Given the description of an element on the screen output the (x, y) to click on. 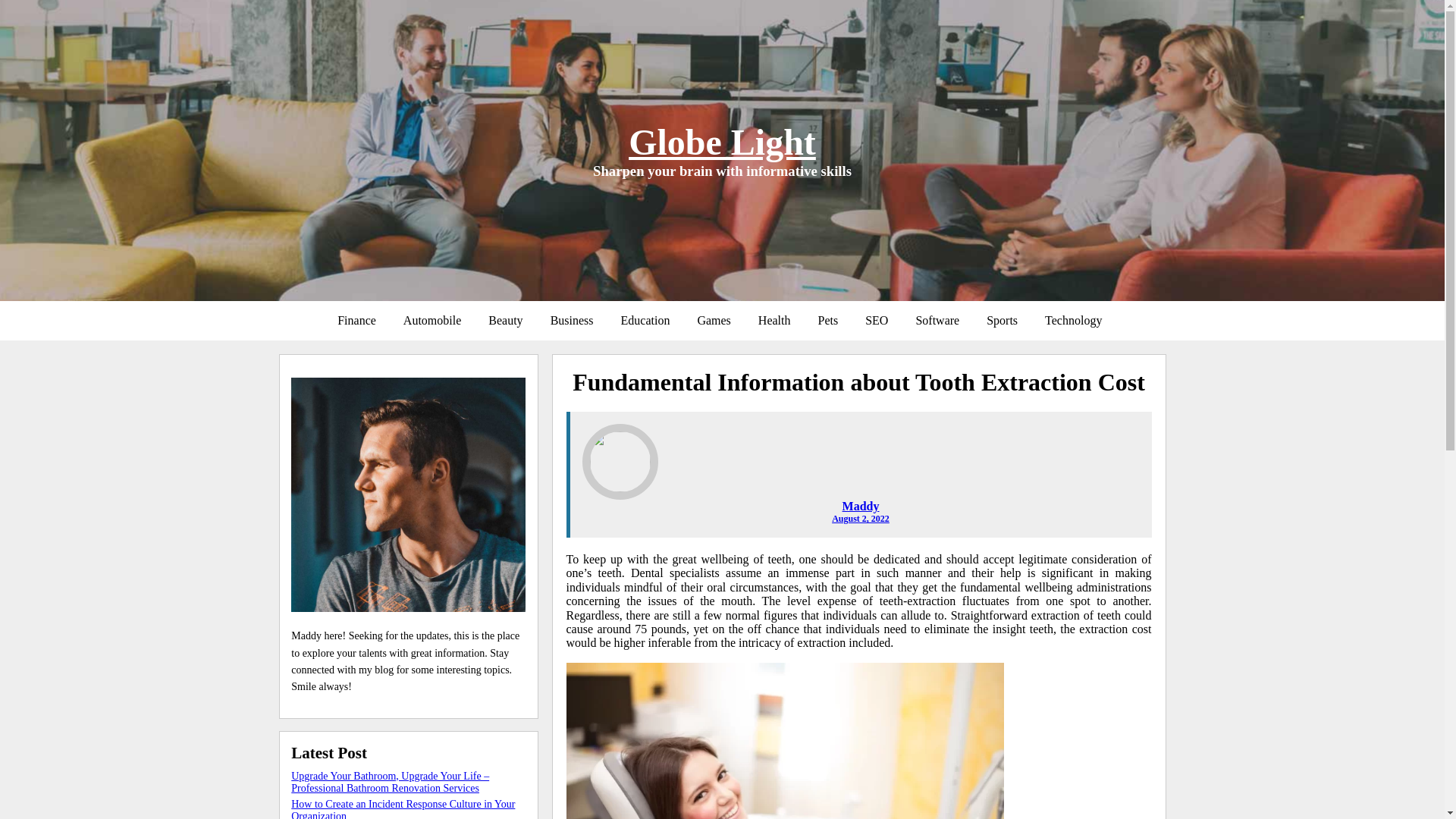
Technology (1072, 320)
Globe Light (721, 142)
Maddy (861, 505)
View all posts by Maddy (861, 505)
August 2, 2022 (860, 518)
Beauty (505, 320)
6:59 am (860, 518)
Finance (356, 320)
Health (774, 320)
Sports (1001, 320)
Automobile (432, 320)
SEO (876, 320)
Business (571, 320)
Pets (827, 320)
